Given the description of an element on the screen output the (x, y) to click on. 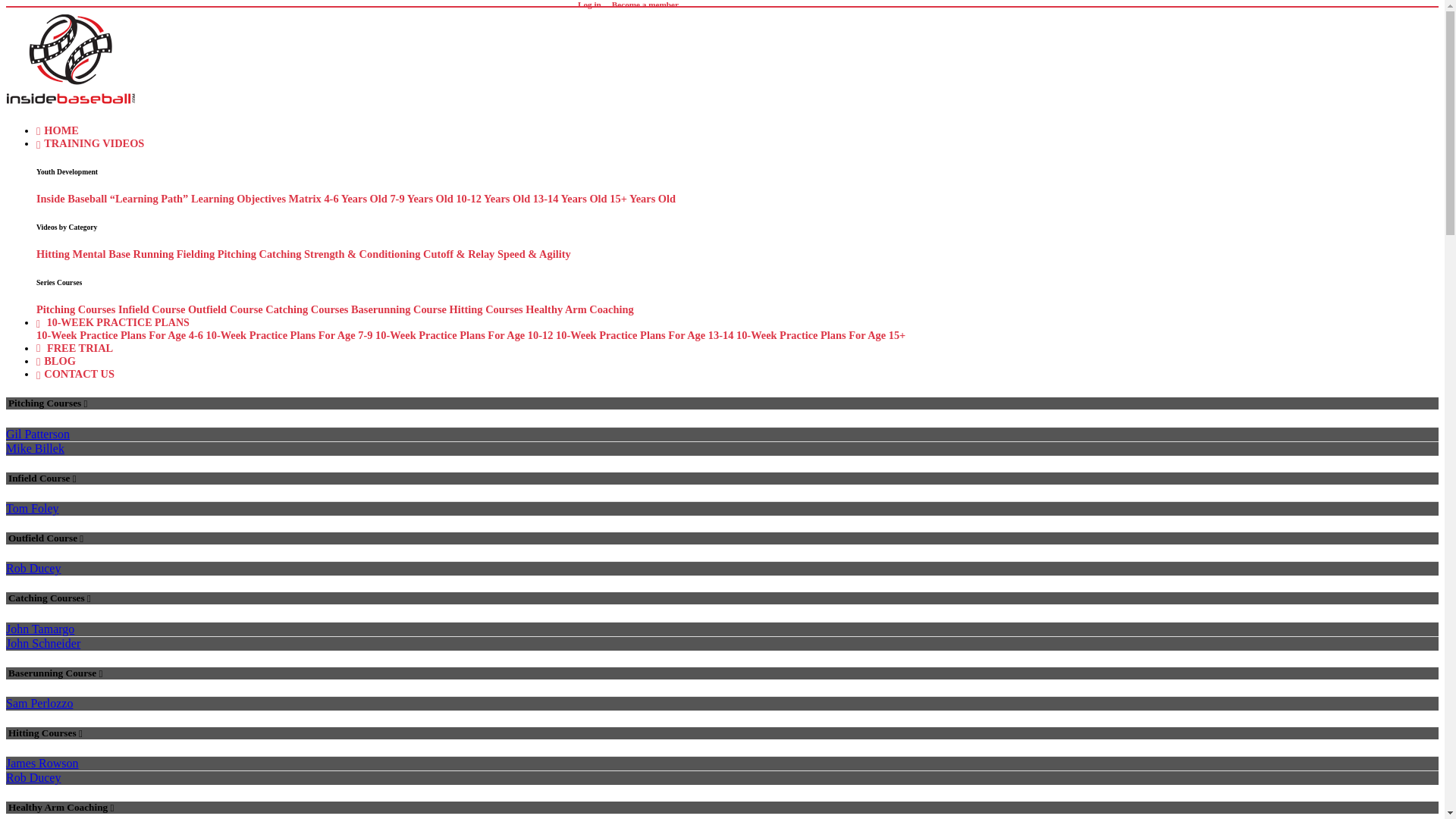
FREE TRIAL (74, 347)
Gil Patterson (37, 433)
Fielding (195, 254)
Outfield Course (225, 309)
Healthy Arm Coaching (579, 309)
Become a member (644, 4)
Hitting (52, 254)
HOME (57, 130)
Pitching (236, 254)
Hitting Courses (485, 309)
